Given the description of an element on the screen output the (x, y) to click on. 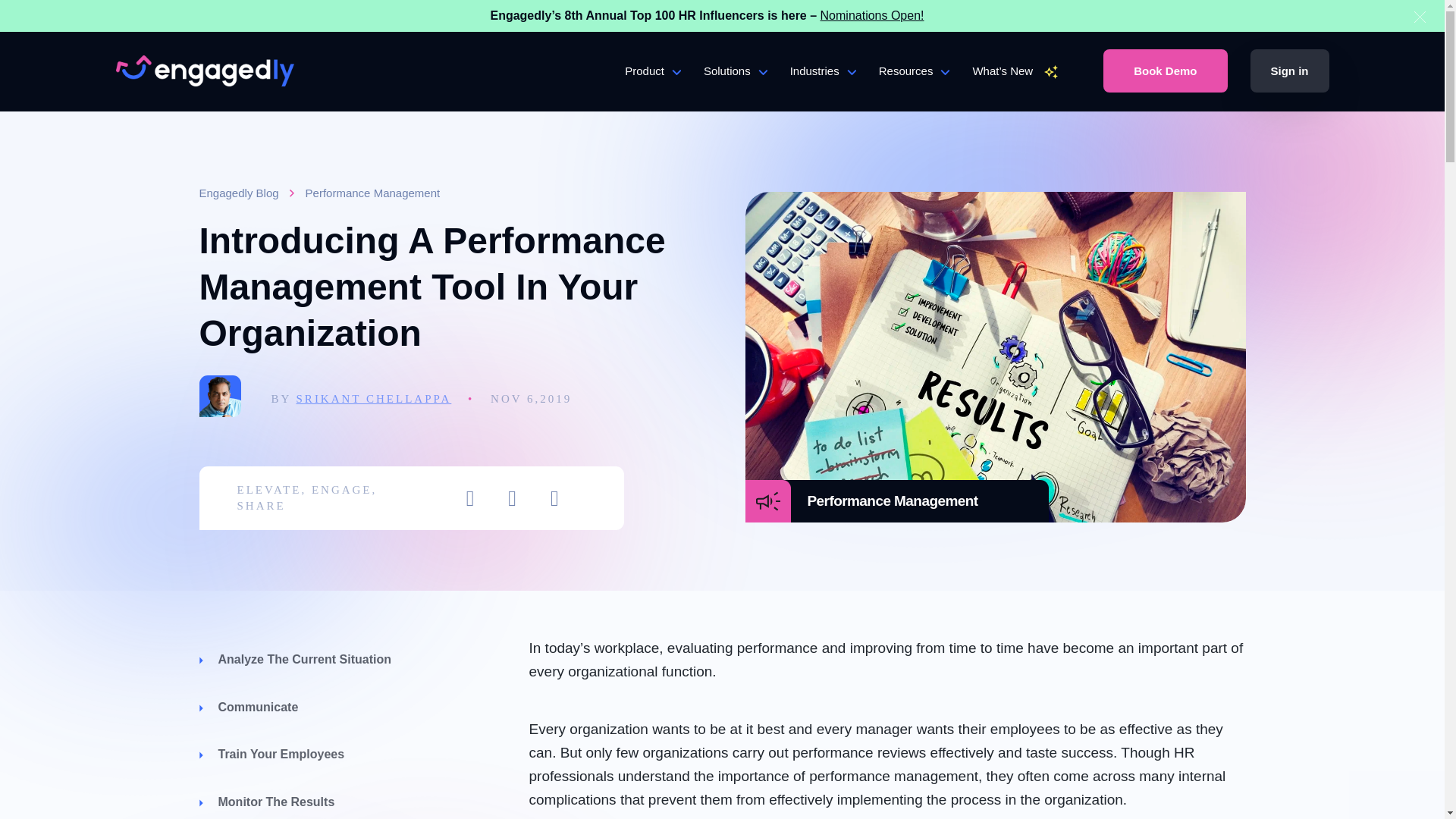
Tweet (469, 497)
Solutions (735, 89)
Share on LinkedIn (554, 497)
Resources (914, 89)
Share on Facebook (512, 497)
Product (652, 89)
Industries (823, 89)
